Given the description of an element on the screen output the (x, y) to click on. 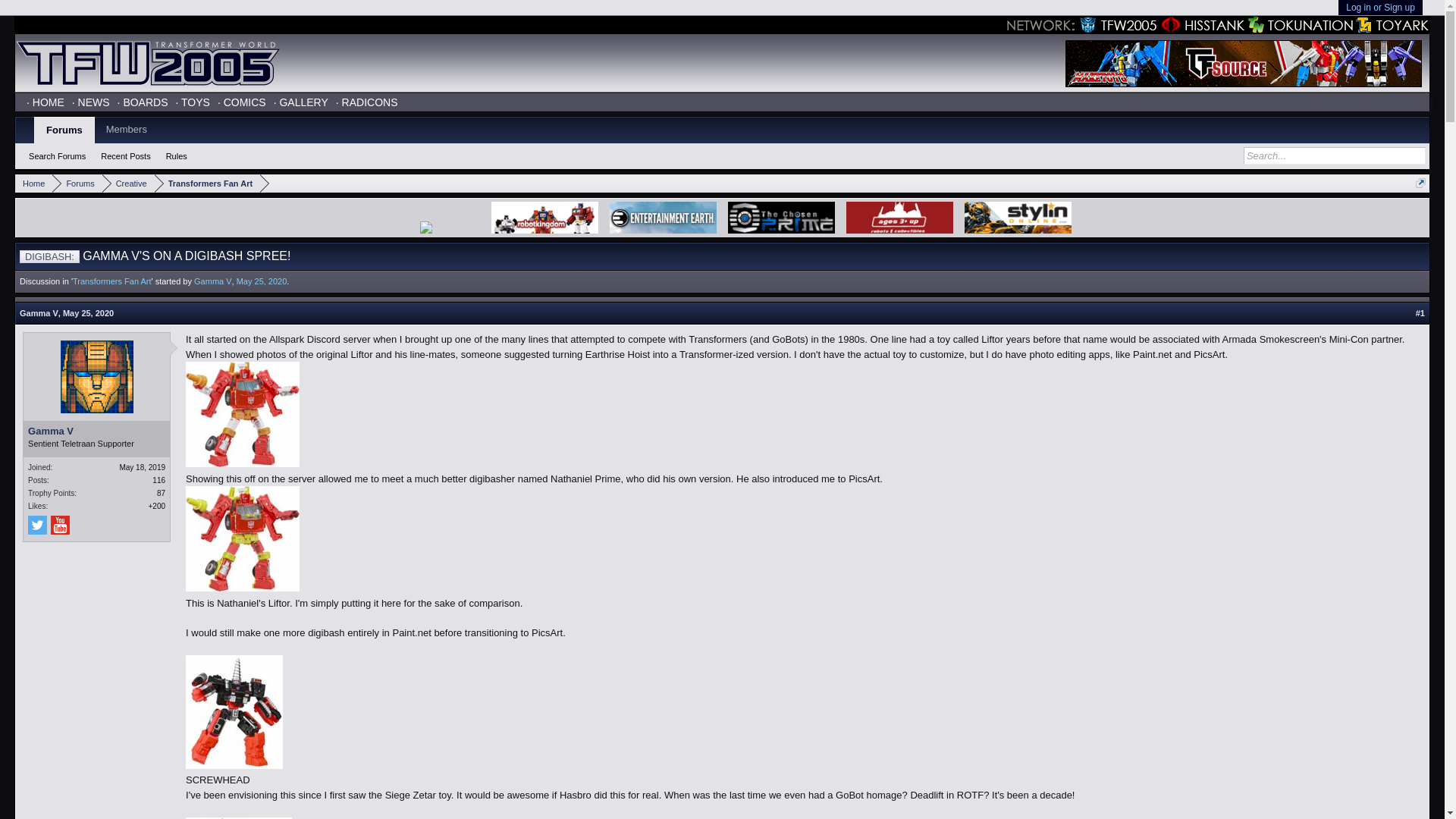
Open quick navigation (1420, 183)
Forums (76, 183)
Gamma V (96, 431)
May 25, 2020 (87, 312)
Permalink (1420, 313)
Gamma V (39, 312)
87 (161, 492)
116 (158, 479)
May 25, 2020 at 10:08 PM (260, 280)
May 25, 2020 (260, 280)
Transformers Fan Art (111, 280)
Home (33, 183)
Creative (127, 183)
Transformers Fan Art (207, 183)
Log in or Sign up (1380, 7)
